Given the description of an element on the screen output the (x, y) to click on. 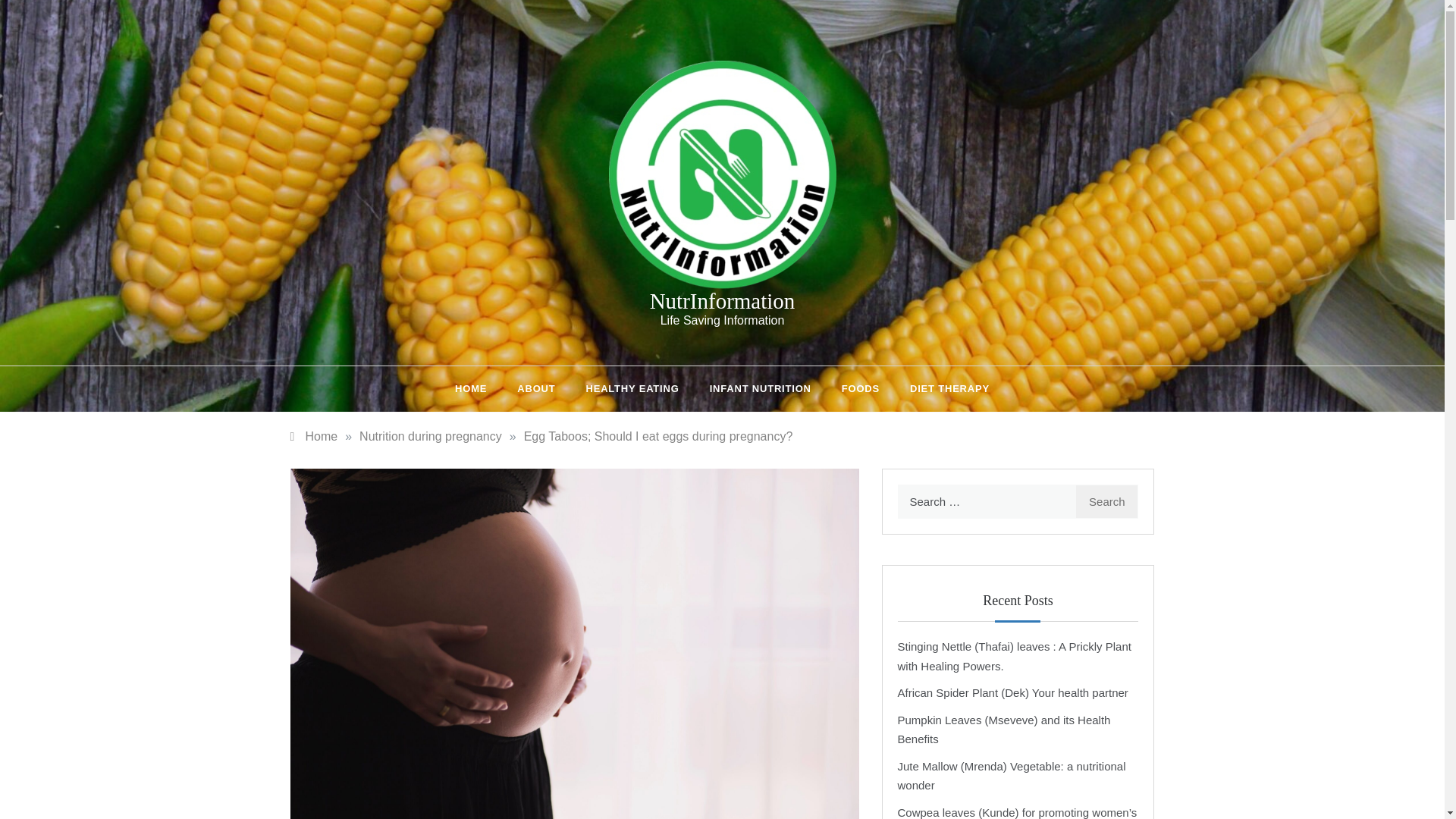
Egg Taboos; Should I eat eggs during pregnancy? (658, 436)
Search (1106, 501)
INFANT NUTRITION (760, 388)
HEALTHY EATING (632, 388)
Search (1106, 501)
Search (1106, 501)
NutrInformation (721, 300)
Home (313, 436)
DIET THERAPY (942, 388)
ABOUT (536, 388)
Nutrition during pregnancy (430, 436)
FOODS (861, 388)
HOME (478, 388)
